Given the description of an element on the screen output the (x, y) to click on. 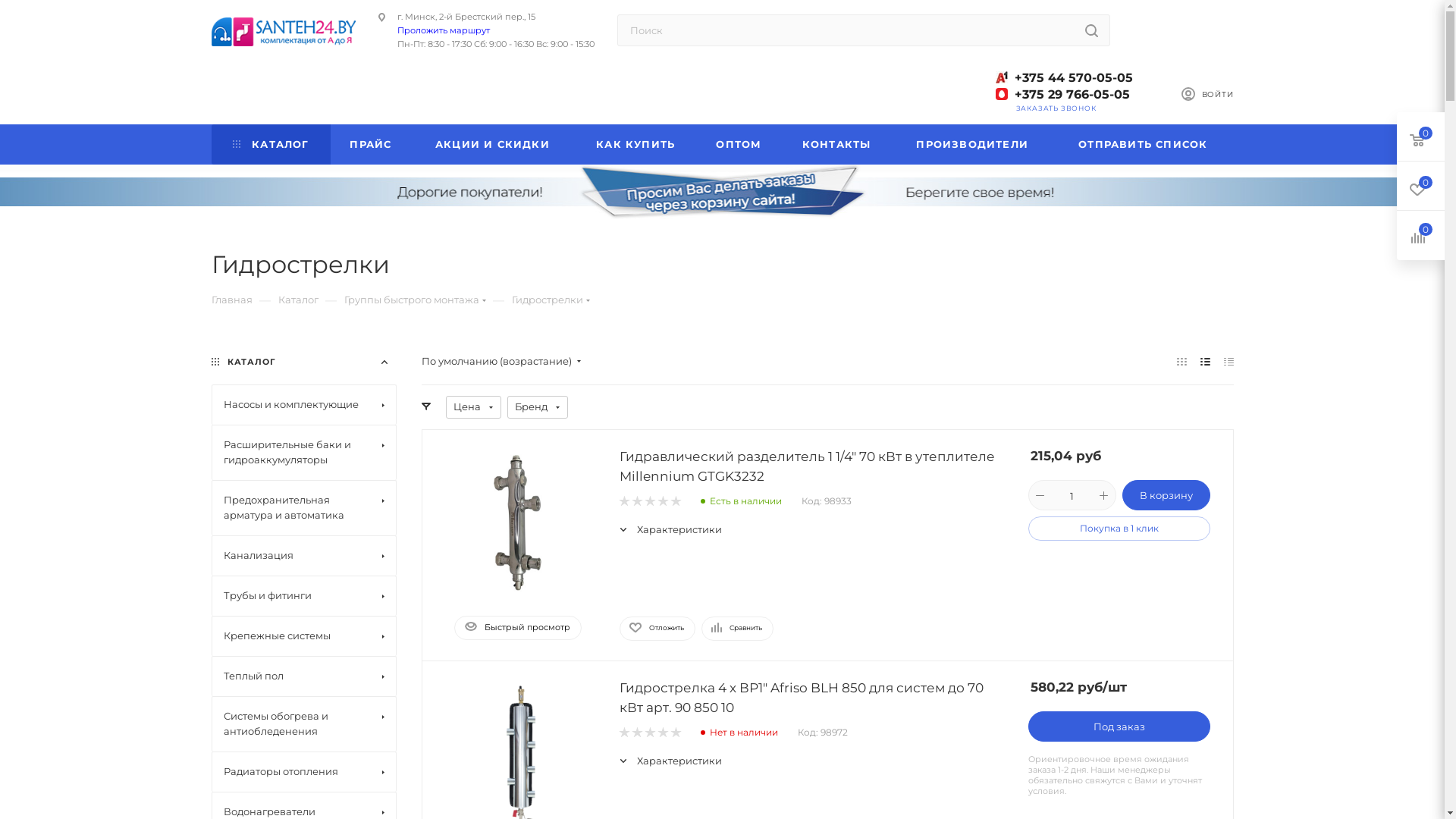
2 Element type: hover (636, 732)
mts.svg Element type: hover (1000, 93)
1 Element type: hover (623, 732)
+375 29 766-05-05 Element type: text (1064, 94)
1 Element type: hover (623, 501)
+375 44 570-05-05 Element type: text (1064, 77)
a1-min.jpg Element type: hover (1000, 77)
3 Element type: hover (649, 501)
4 Element type: hover (662, 732)
2 Element type: hover (636, 501)
+375 44 570-05-05 Element type: text (1073, 90)
5 Element type: hover (674, 732)
3 Element type: hover (649, 732)
Santeh24.by Element type: hover (282, 31)
4 Element type: hover (662, 501)
5 Element type: hover (674, 501)
